Given the description of an element on the screen output the (x, y) to click on. 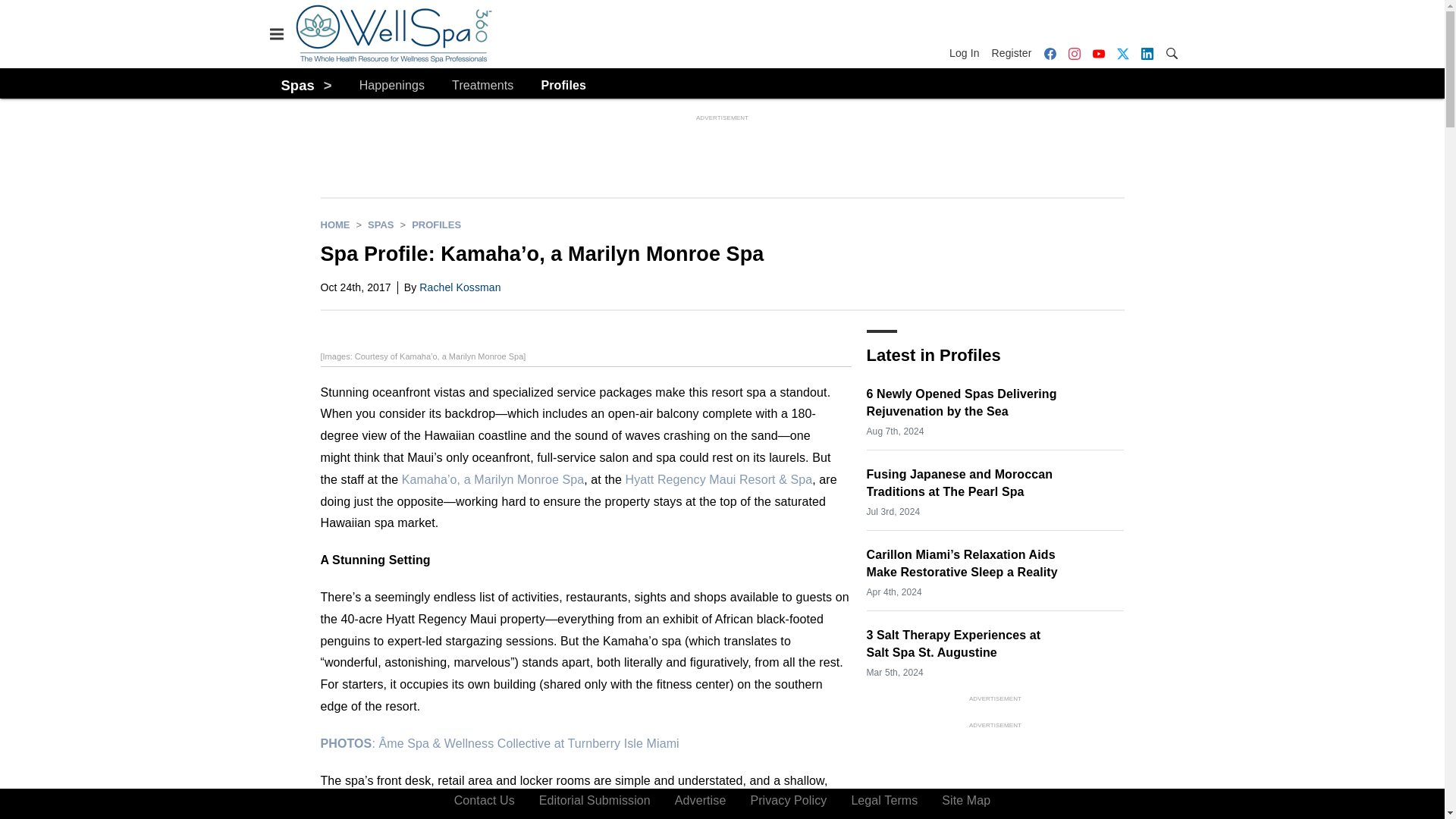
Search (1170, 51)
Treatments (482, 85)
Instagram icon (1073, 53)
HOME (334, 224)
LinkedIn icon (1146, 53)
SPAS (380, 224)
Profiles (563, 85)
YouTube icon (1097, 53)
Home (334, 224)
Twitter X icon (1122, 53)
